Given the description of an element on the screen output the (x, y) to click on. 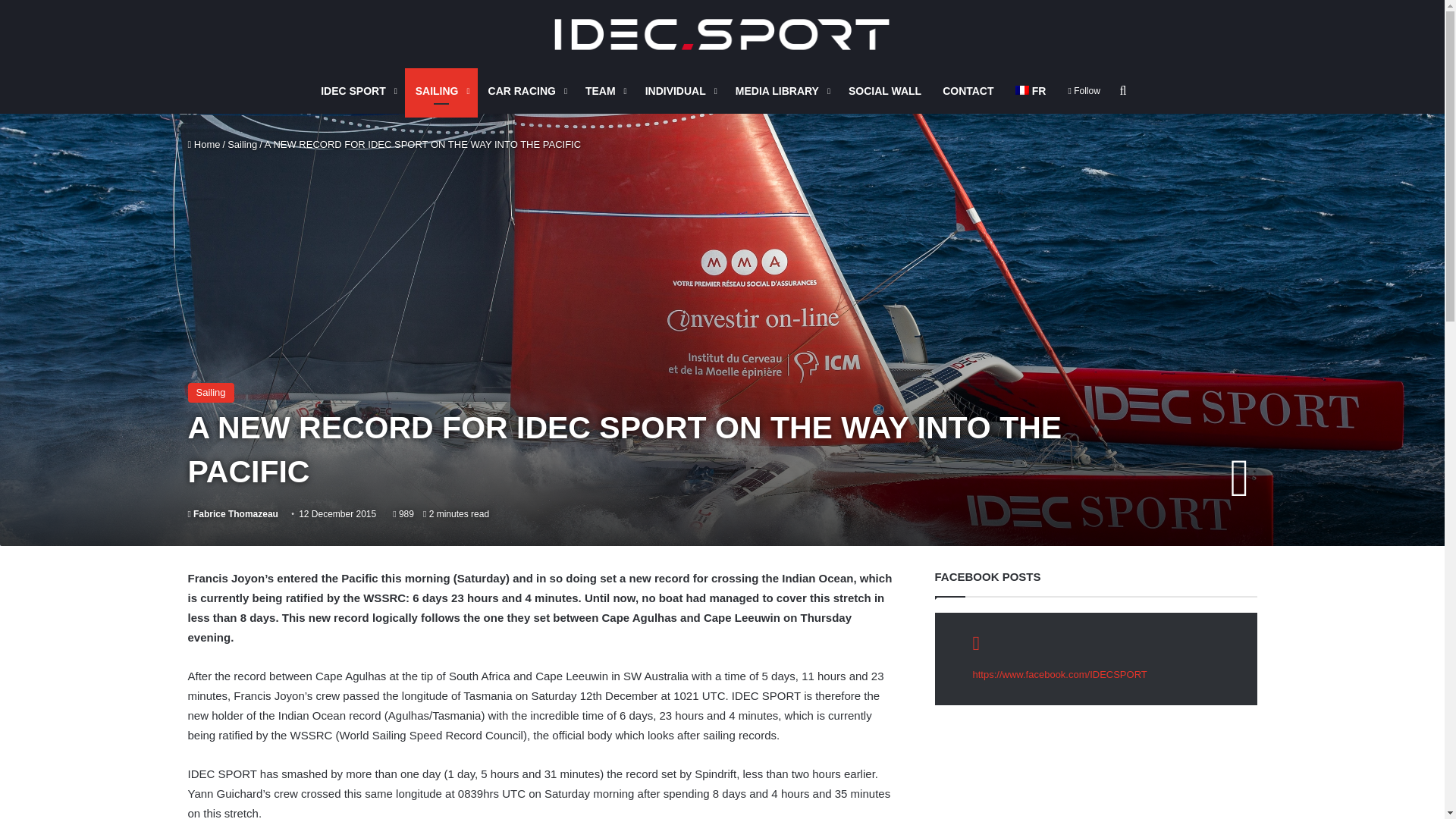
FR (1030, 90)
TEAM (604, 90)
SAILING (440, 90)
Fabrice Thomazeau (232, 513)
INDIVIDUAL (679, 90)
IDEC SPORT (357, 90)
CAR RACING (526, 90)
IDEC SPORT (722, 33)
MEDIA LIBRARY (781, 90)
